Given the description of an element on the screen output the (x, y) to click on. 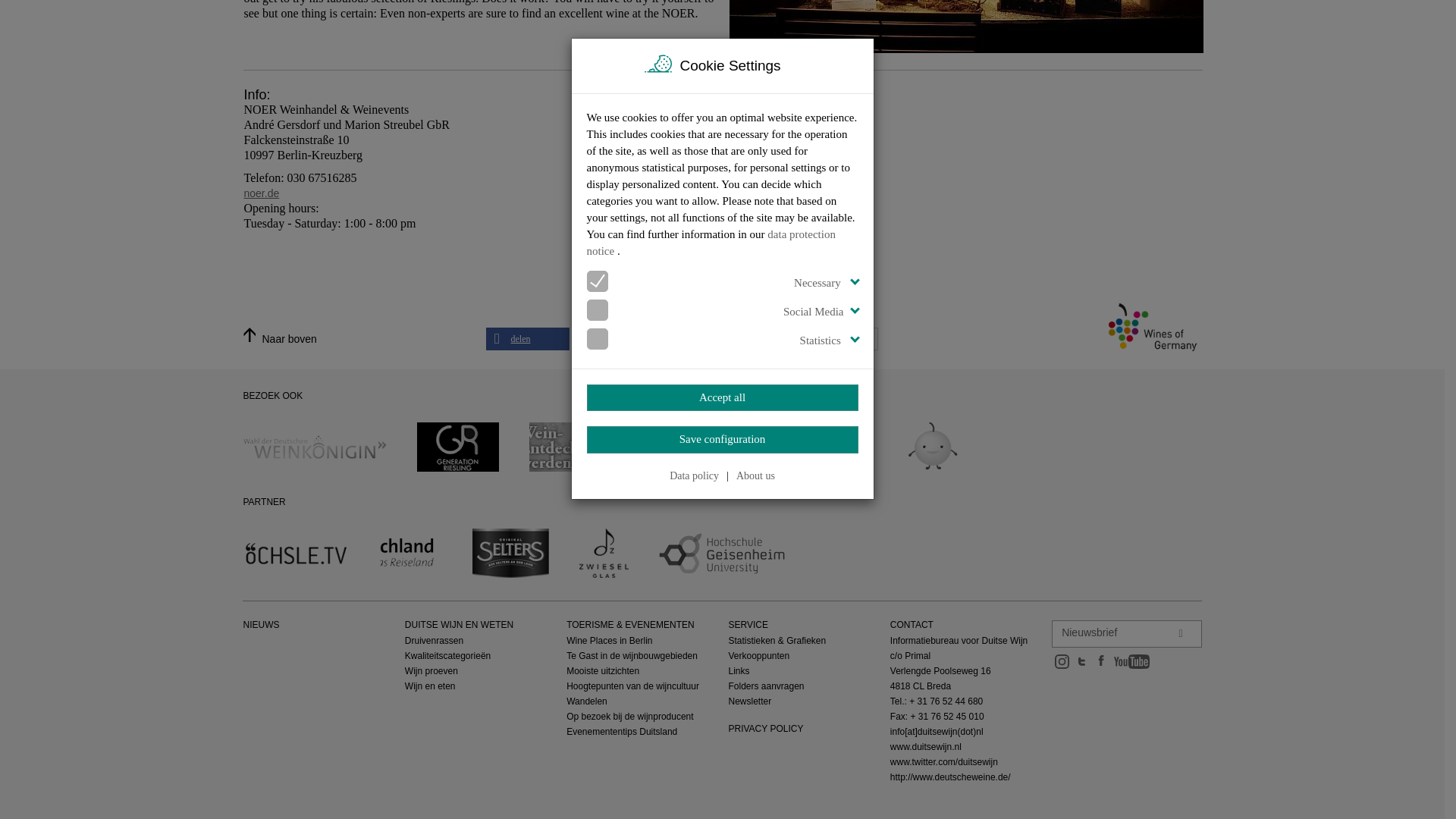
Delen op Twitter (620, 338)
Sturen via e-mail (806, 338)
Delen op Whatsapp (713, 338)
Delen op Facebook (526, 338)
